Given the description of an element on the screen output the (x, y) to click on. 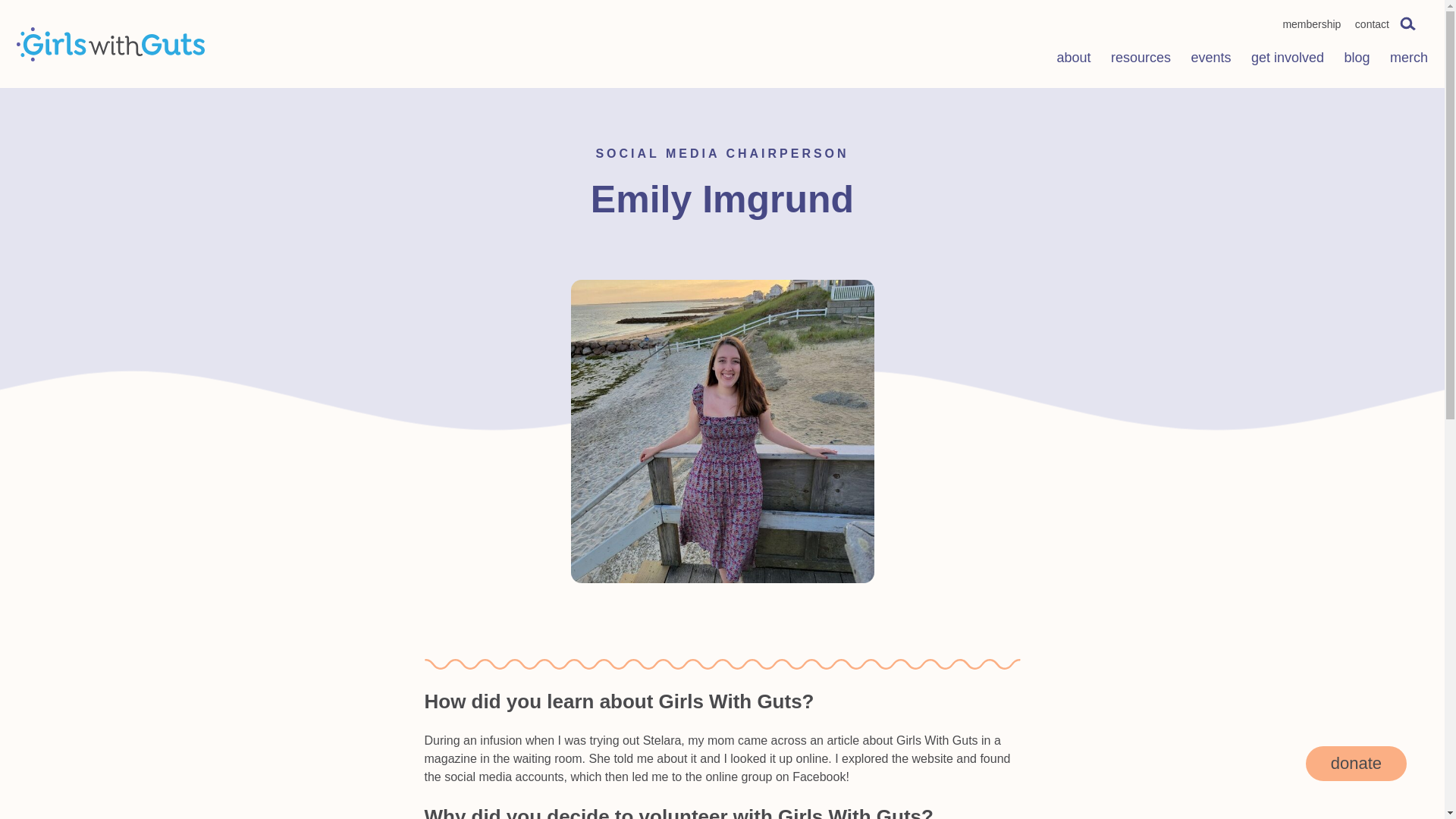
resources (1140, 60)
about (1073, 60)
contact (1372, 24)
membership (1311, 24)
